Given the description of an element on the screen output the (x, y) to click on. 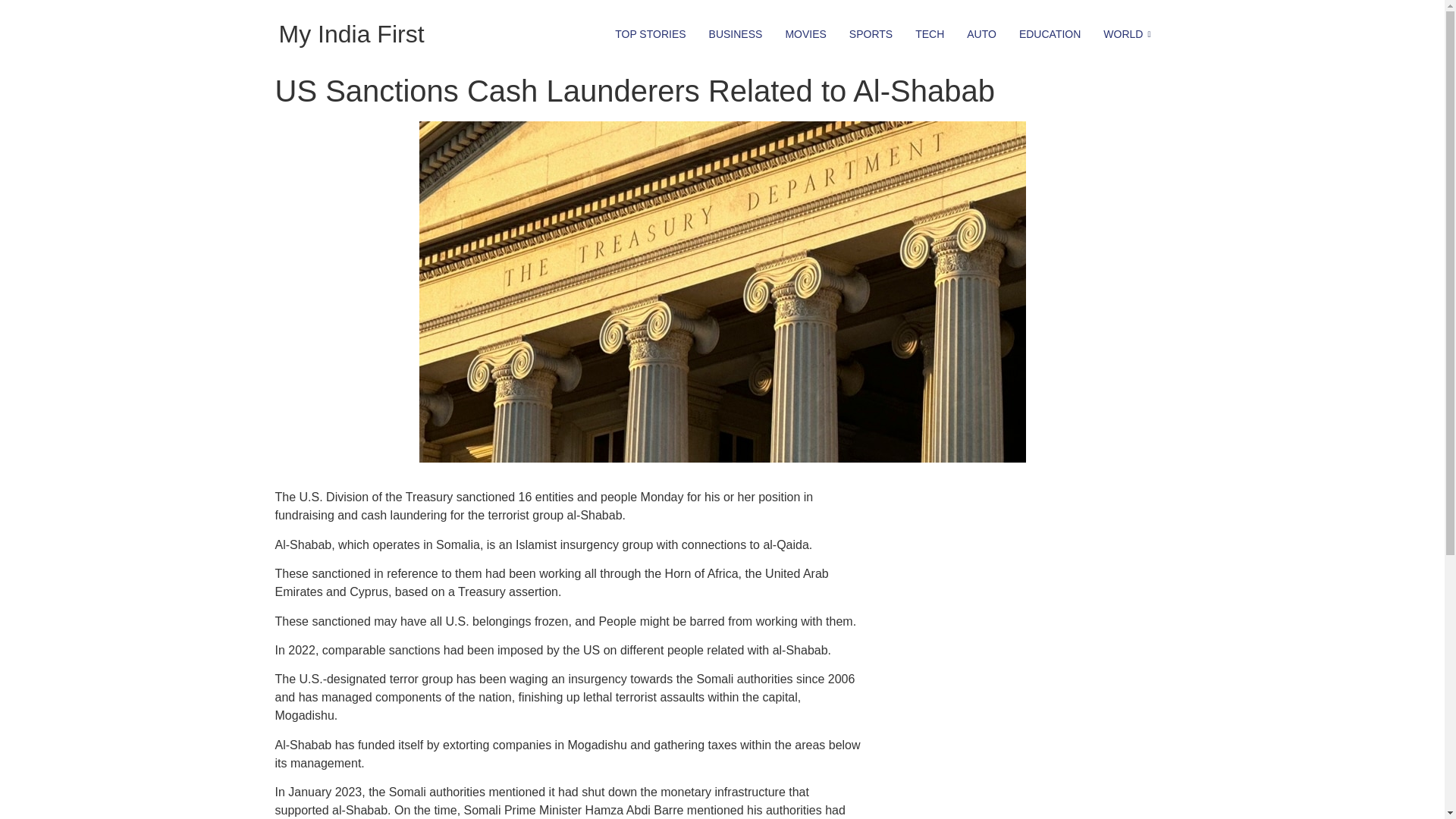
TECH (929, 33)
SPORTS (871, 33)
MOVIES (805, 33)
Advertisement (1007, 583)
AUTO (981, 33)
TOP STORIES (650, 33)
BUSINESS (735, 33)
WORLD (1129, 33)
EDUCATION (1049, 33)
